Given the description of an element on the screen output the (x, y) to click on. 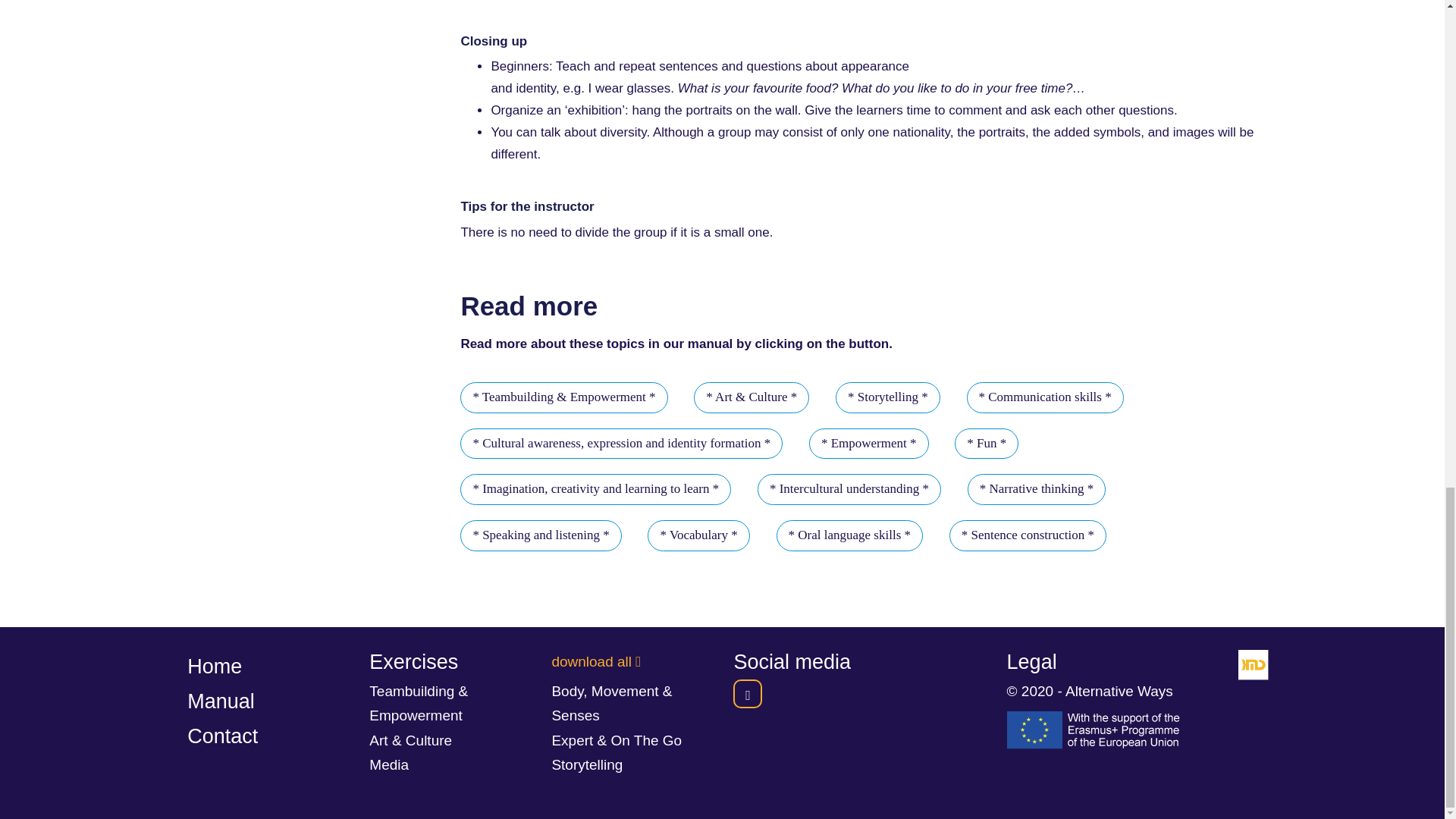
WordPress website development by Miller Digital (1253, 665)
